Given the description of an element on the screen output the (x, y) to click on. 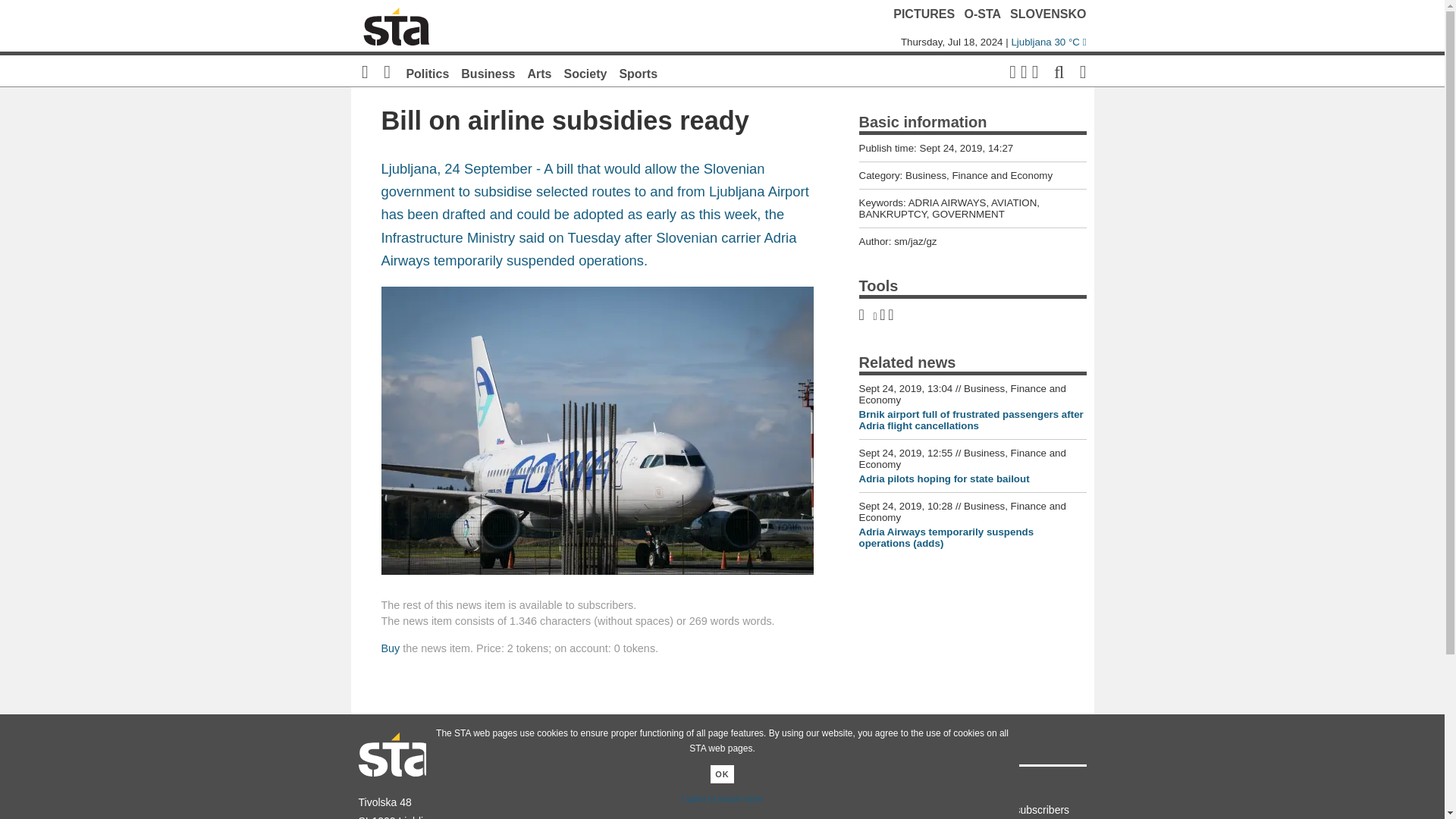
Arts (539, 73)
O-STA (982, 13)
STApictures (676, 791)
STA-R (585, 809)
Politics (427, 73)
Buy (389, 648)
STAklub (767, 809)
STAenglish (858, 791)
Adria pilots hoping for state bailout (944, 478)
PICTURES (924, 13)
Society (585, 73)
STA-AND (858, 809)
Sports (638, 73)
STAschedule (767, 791)
